Given the description of an element on the screen output the (x, y) to click on. 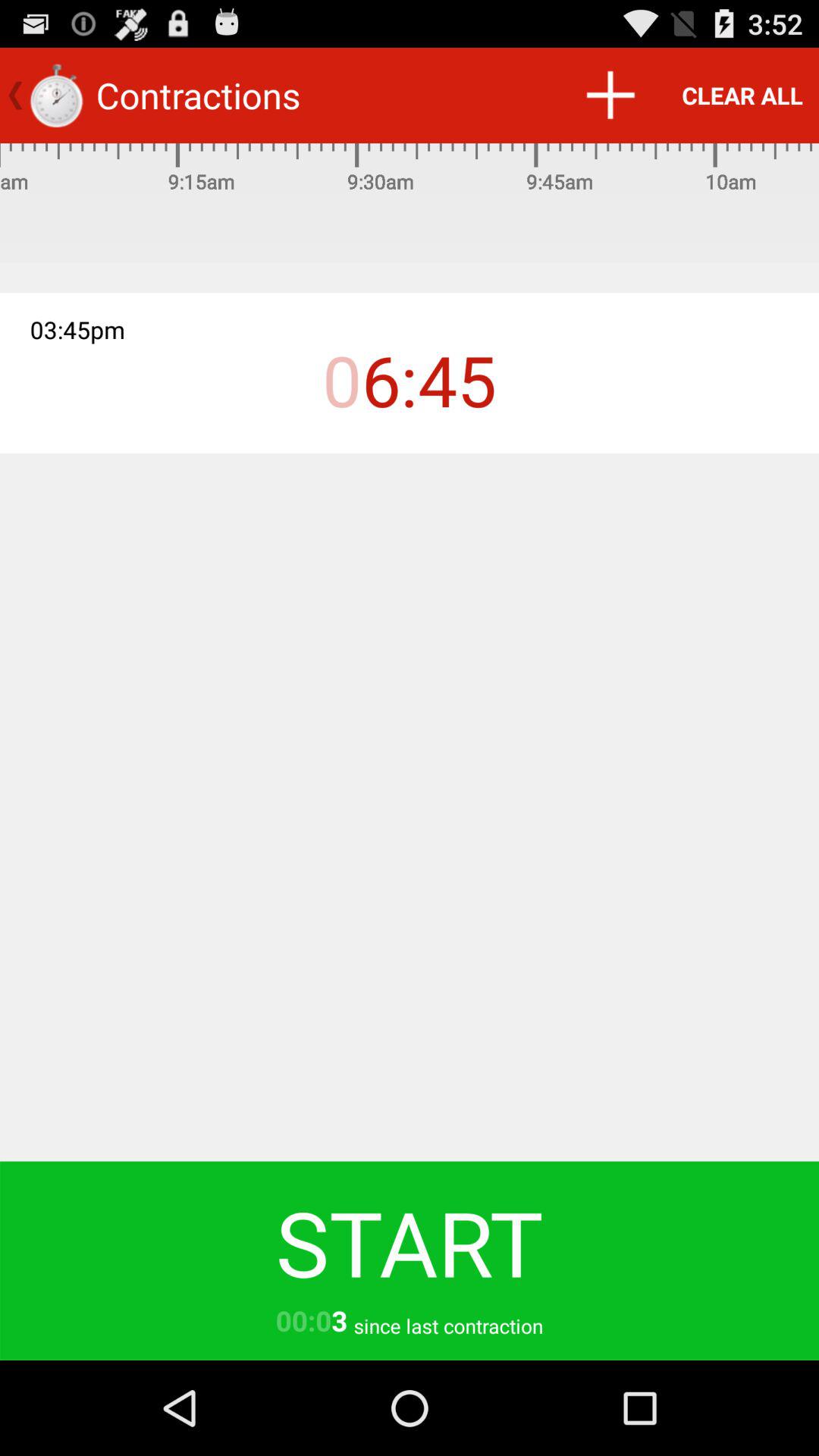
tap icon to the right of contractions item (610, 95)
